Given the description of an element on the screen output the (x, y) to click on. 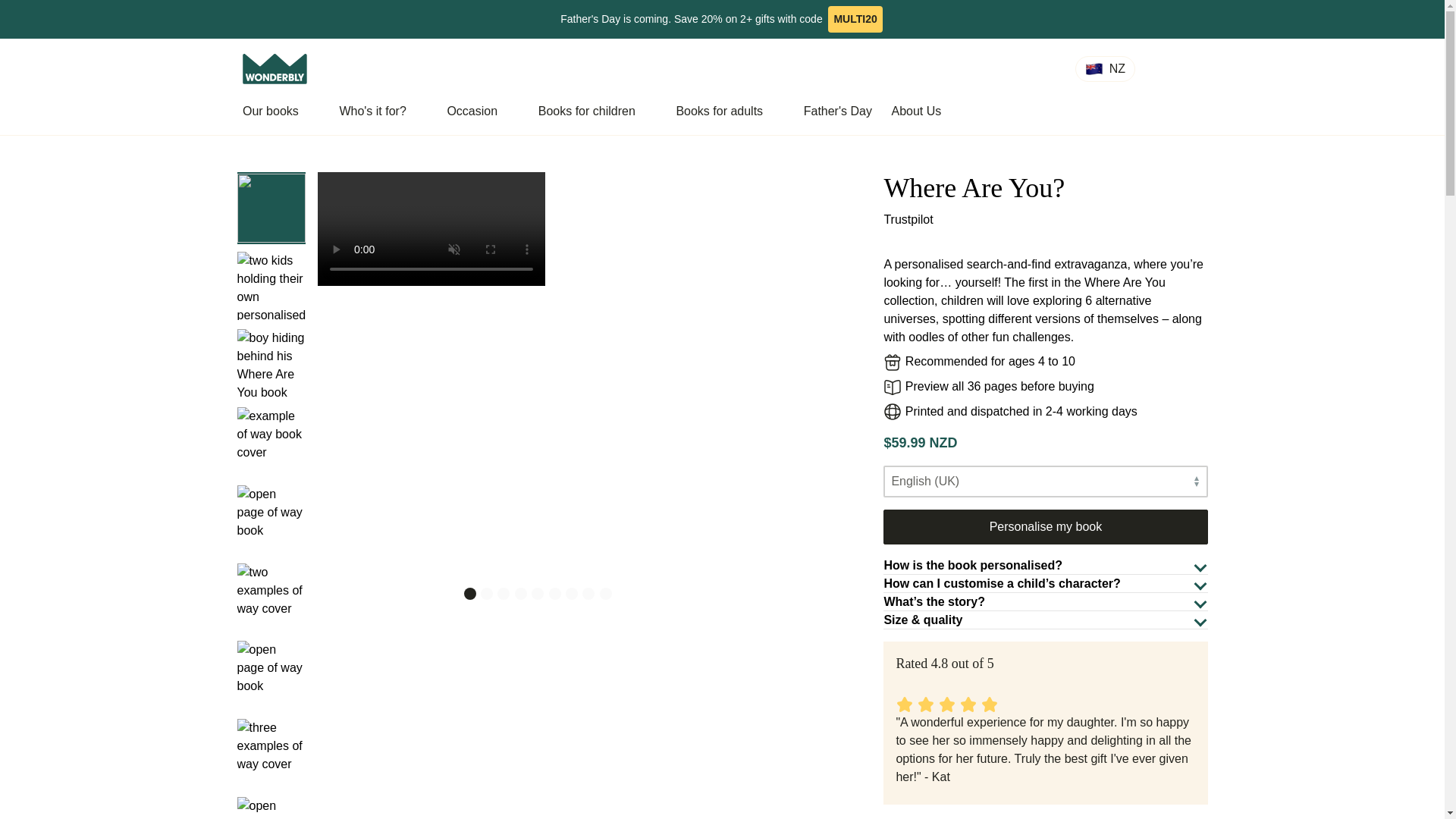
Who's it for? (382, 111)
Our books (281, 111)
Occasion (482, 111)
Customer reviews powered by Trustpilot (1027, 221)
Customer reviews powered by Trustpilot (973, 683)
Books for children (597, 111)
